Given the description of an element on the screen output the (x, y) to click on. 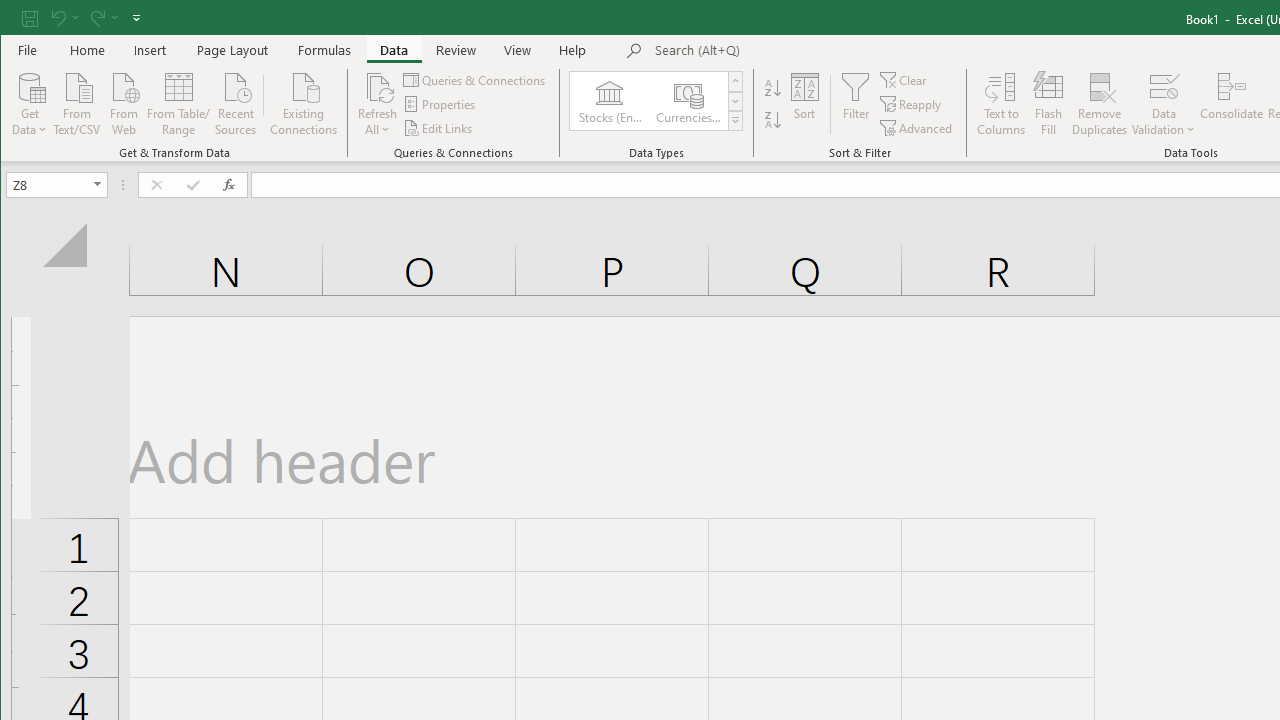
Edit Links (438, 127)
From Text/CSV (76, 101)
Refresh All (377, 104)
Properties (440, 103)
Stocks (English) (609, 100)
Data Validation... (1164, 86)
Queries & Connections (475, 80)
Existing Connections (303, 101)
From Table/Range (178, 101)
Insert (150, 50)
Remove Duplicates (1100, 104)
Currencies (English) (687, 100)
Sort A to Z (772, 88)
